Given the description of an element on the screen output the (x, y) to click on. 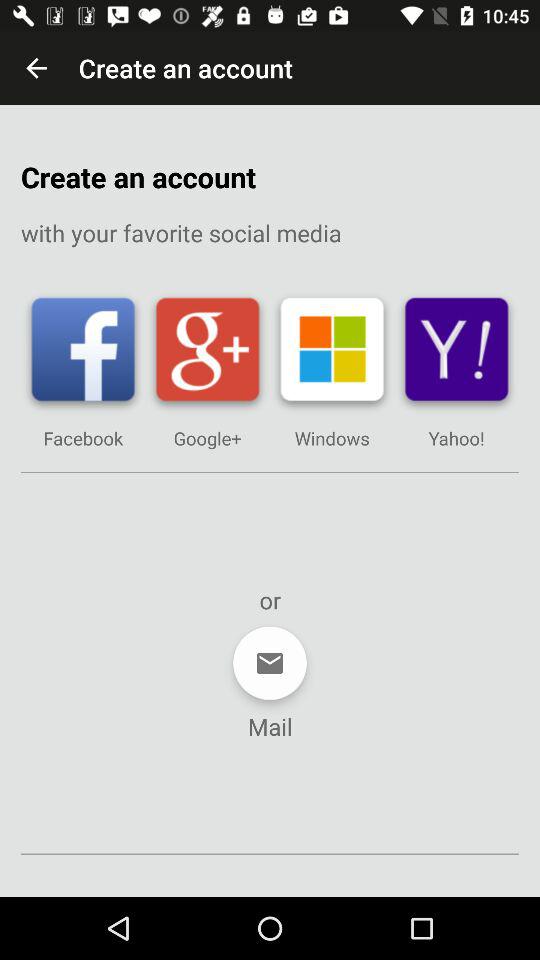
press icon above mail (269, 663)
